Given the description of an element on the screen output the (x, y) to click on. 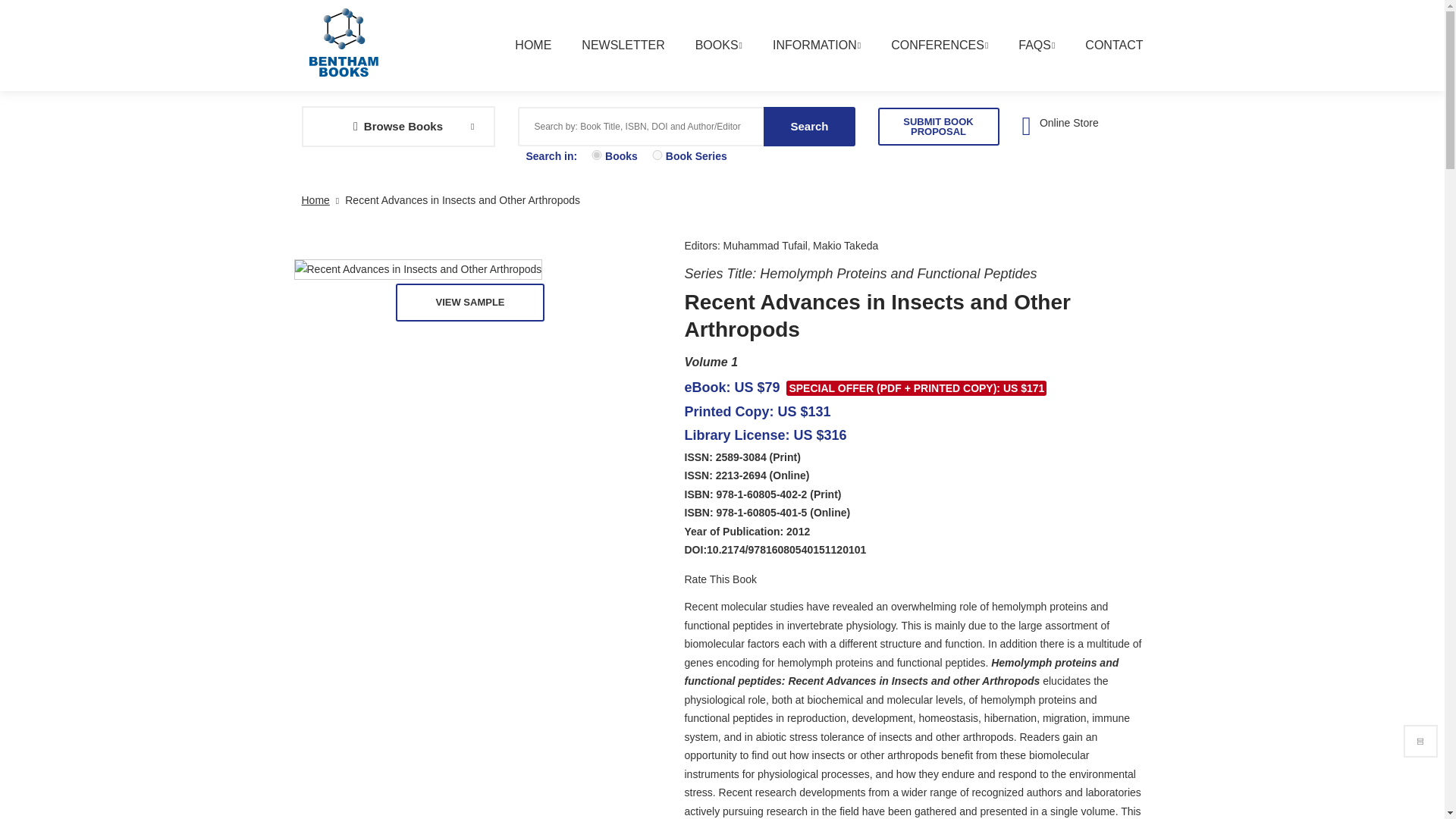
Recent Advances in Insects and Other Arthropods (418, 269)
book (596, 154)
BOOKS (702, 52)
HOME (517, 52)
CONFERENCES (924, 52)
series (657, 154)
INFORMATION (801, 52)
NEWSLETTER (607, 52)
